Given the description of an element on the screen output the (x, y) to click on. 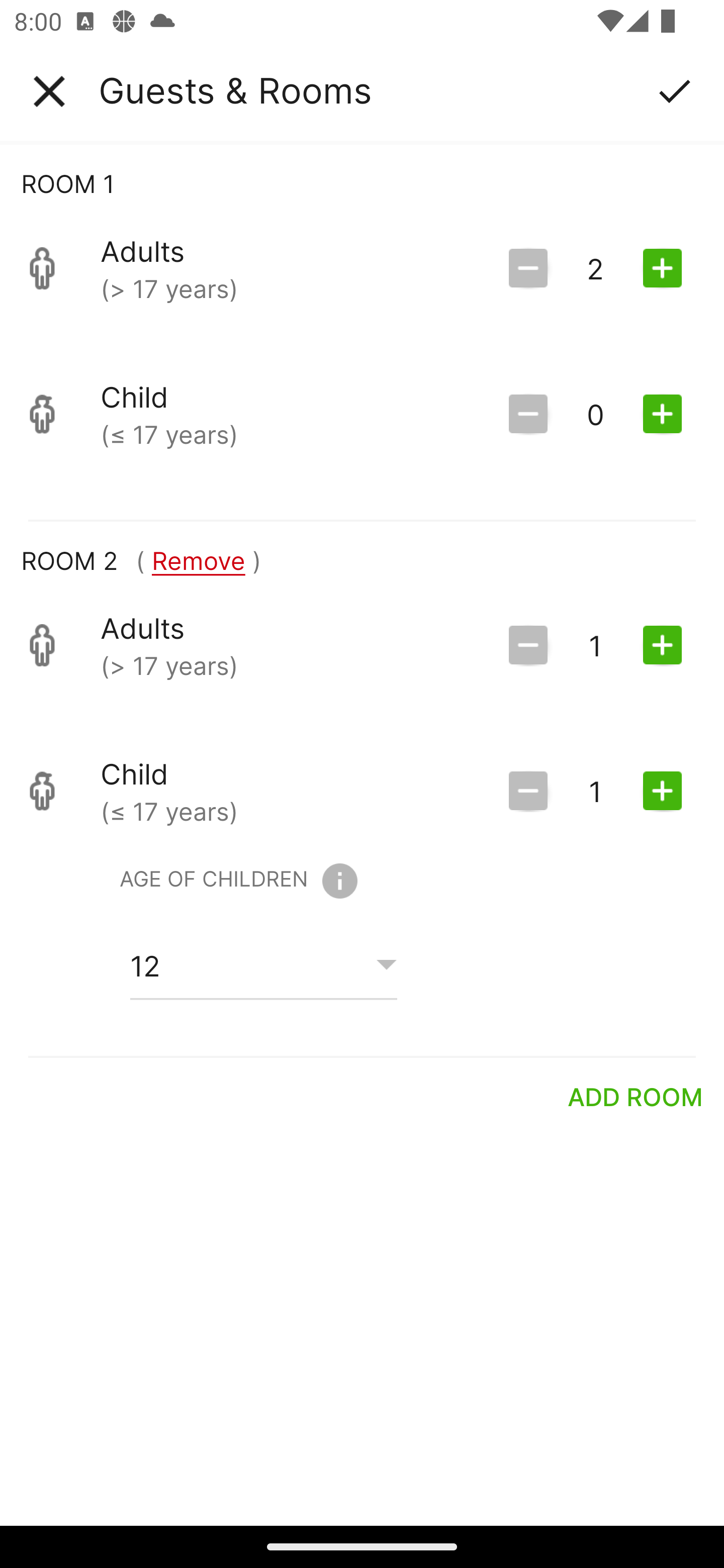
( Remove ) (198, 560)
AGE OF CHILDREN (238, 880)
12 (263, 964)
ADD ROOM (635, 1096)
